Given the description of an element on the screen output the (x, y) to click on. 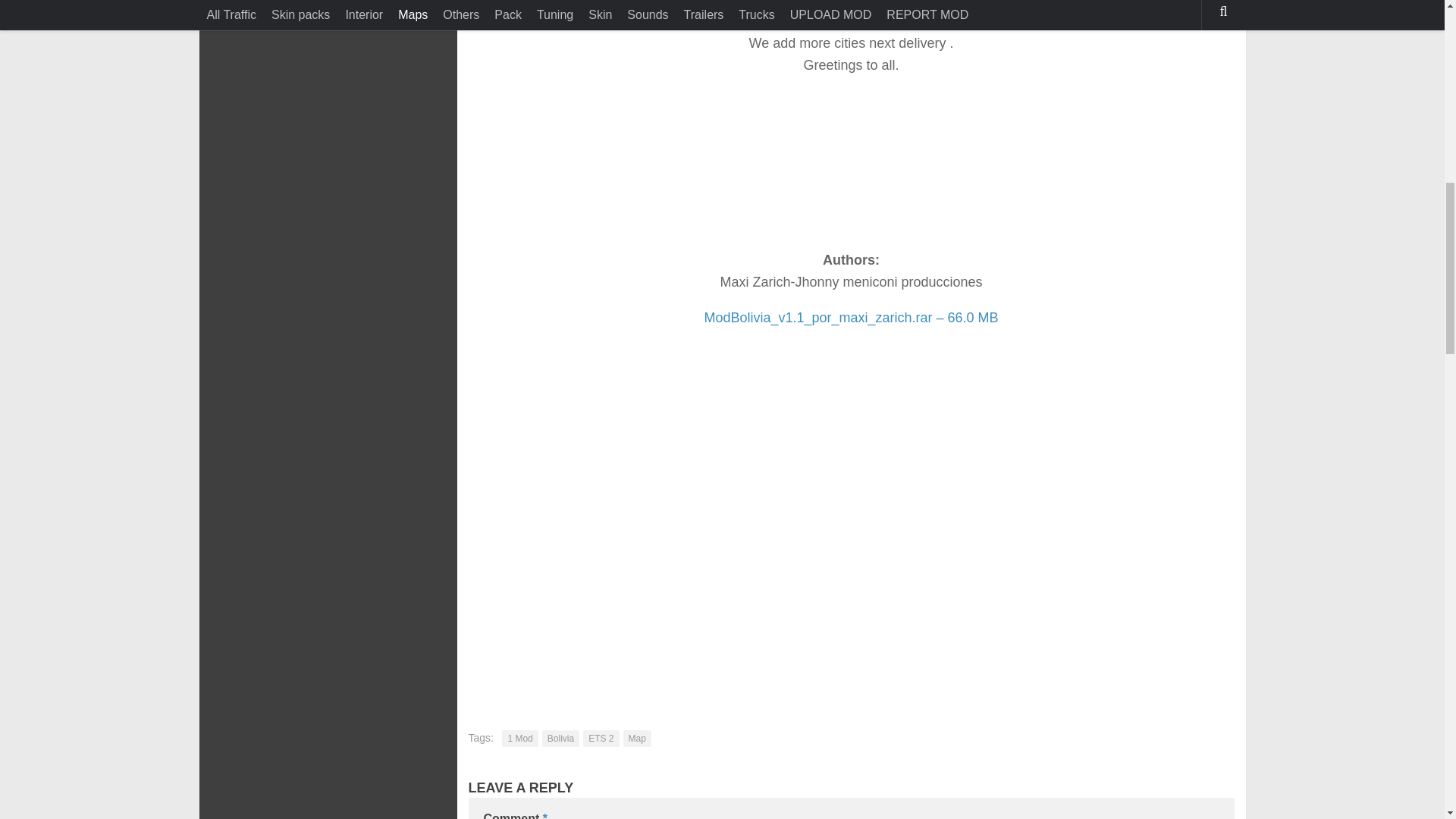
ETS 2 (600, 738)
Map (636, 738)
Bolivia (560, 738)
1 Mod (519, 738)
